Given the description of an element on the screen output the (x, y) to click on. 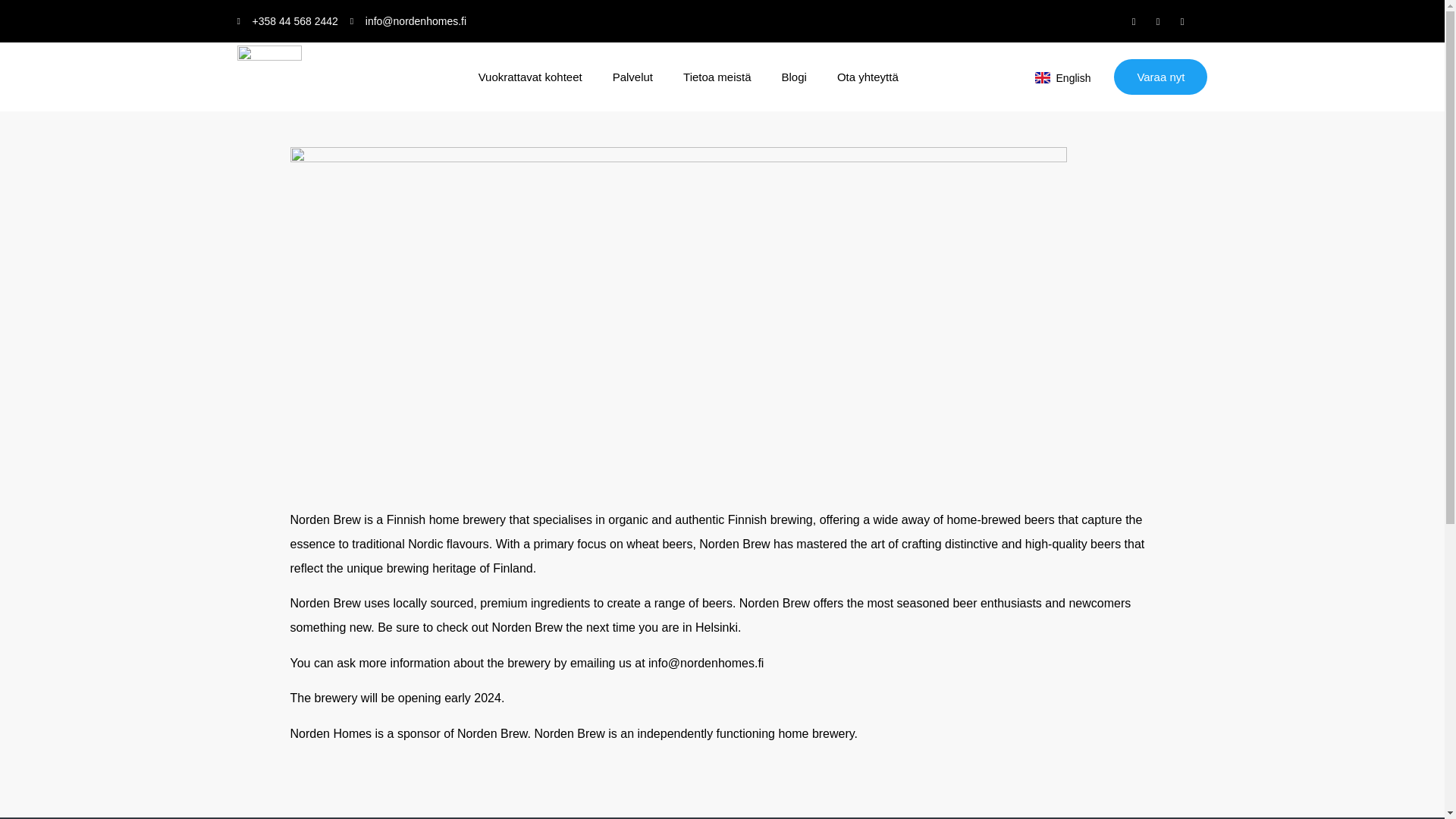
Vuokrattavat kohteet (530, 76)
Blogi (793, 76)
Palvelut (632, 76)
English (1062, 76)
Varaa nyt (1160, 76)
